Given the description of an element on the screen output the (x, y) to click on. 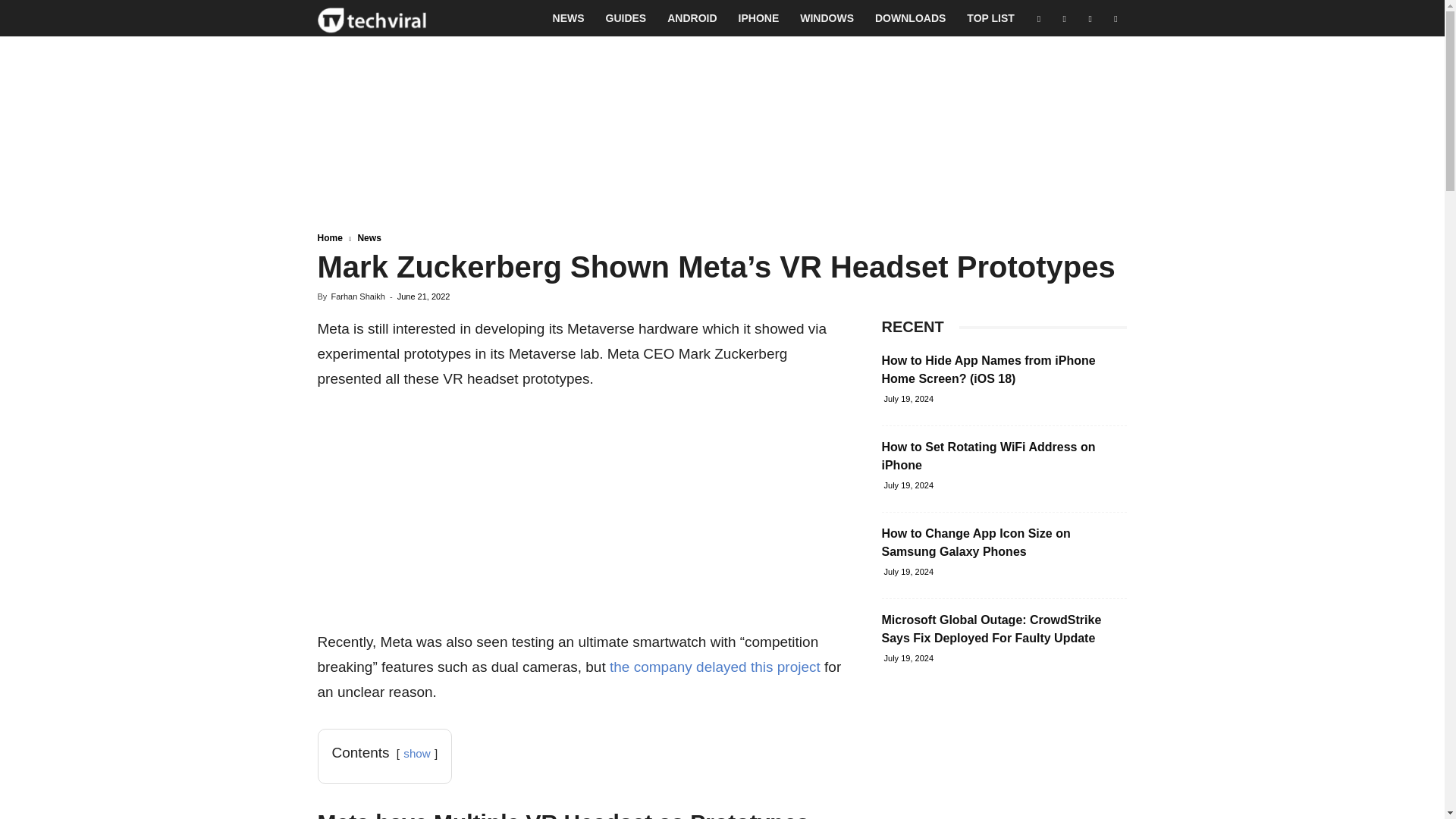
IPHONE (759, 18)
WINDOWS (826, 18)
DOWNLOADS (910, 18)
TOP LIST (990, 18)
GUIDES (626, 18)
Tech Viral (371, 18)
ANDROID (691, 18)
Home (329, 237)
NEWS (568, 18)
show (416, 753)
the company delayed this project (713, 666)
TechViral (371, 18)
Farhan Shaikh (357, 296)
